Given the description of an element on the screen output the (x, y) to click on. 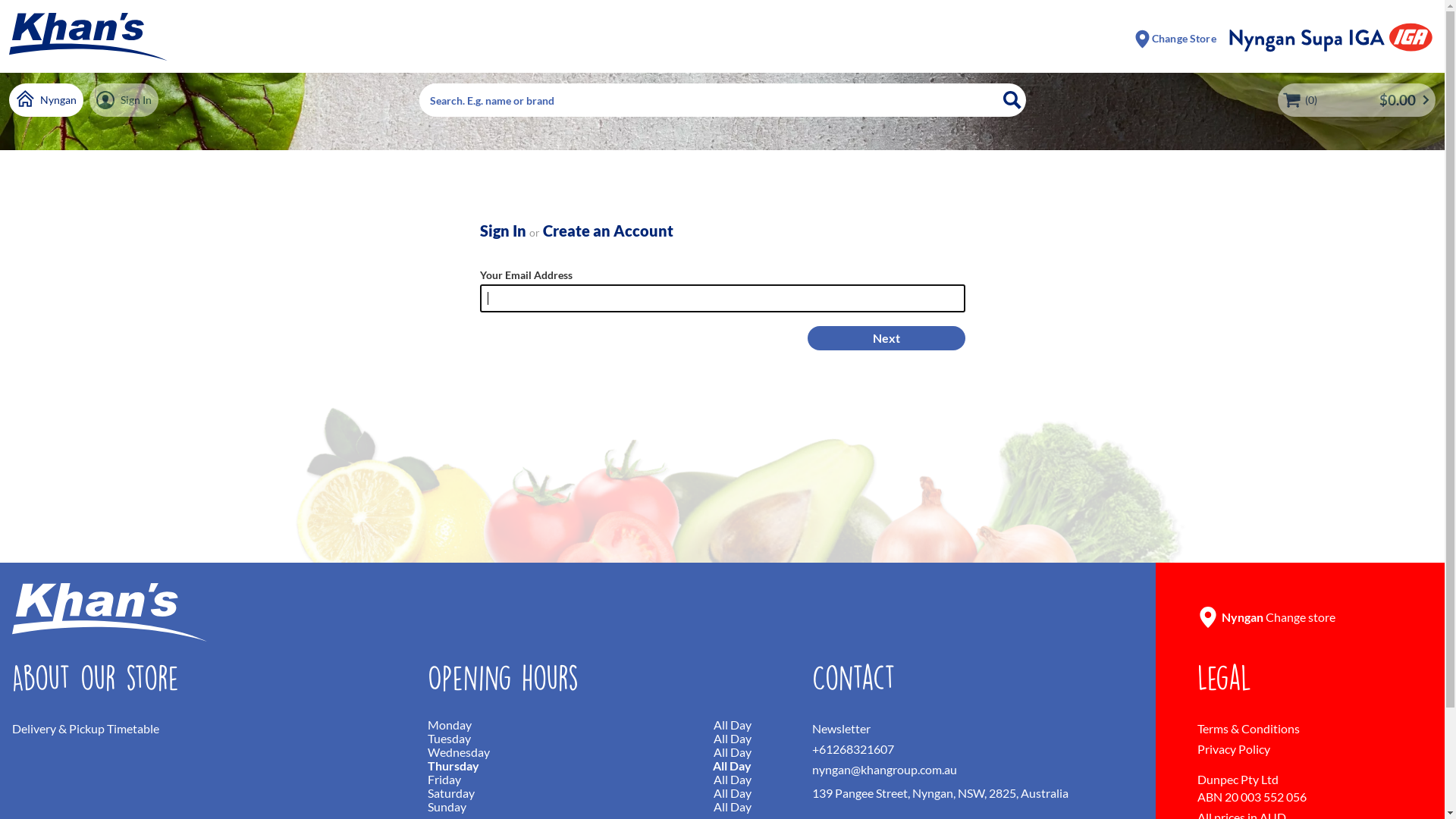
Newsletter Element type: text (974, 728)
Search Element type: hover (1011, 99)
nyngan@khangroup.com.au Element type: text (974, 769)
139 Pangee Street, Nyngan, NSW, 2825, Australia Element type: text (974, 792)
+61268321607 Element type: text (974, 748)
(0)
$0.00 Element type: text (1356, 99)
Next Element type: text (885, 338)
Nyngan Change store Element type: text (1299, 612)
Delivery & Pickup Timetable Element type: text (189, 728)
Terms & Conditions Element type: text (1314, 728)
Change Store Element type: text (1174, 37)
Sign In Element type: text (123, 99)
Nyngan Element type: text (46, 99)
Privacy Policy Element type: text (1314, 748)
